Given the description of an element on the screen output the (x, y) to click on. 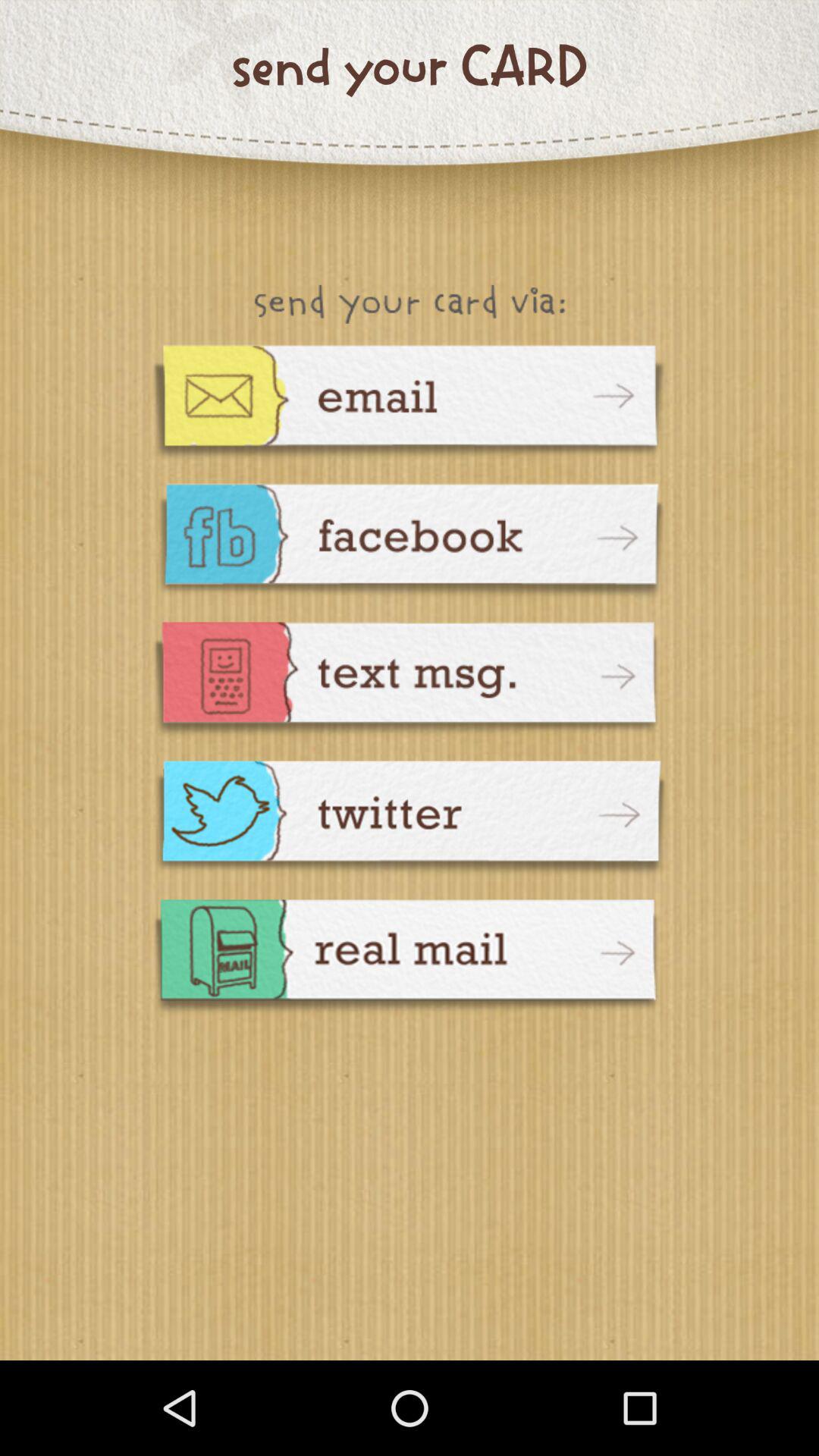
send card via text message (409, 680)
